Given the description of an element on the screen output the (x, y) to click on. 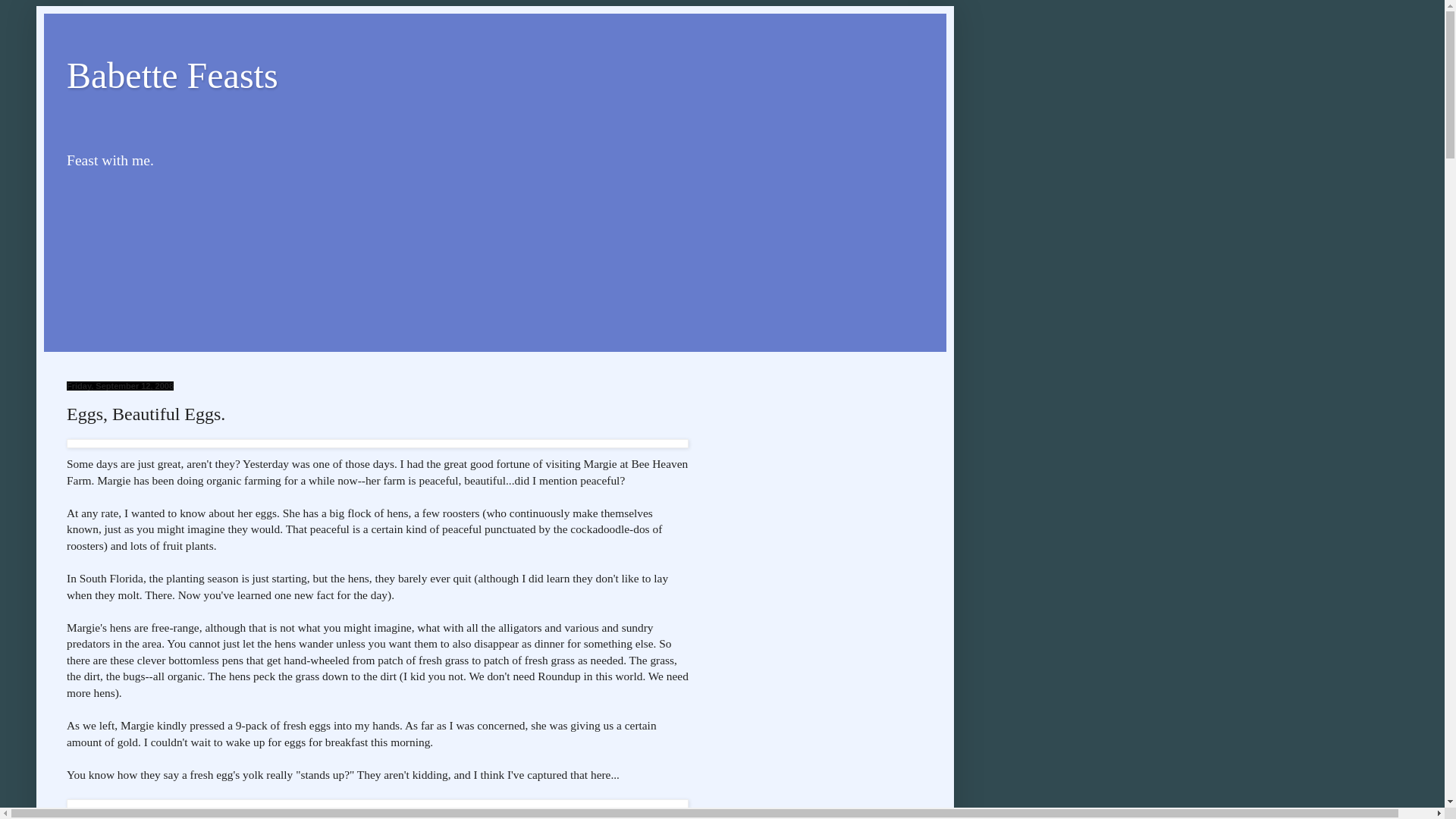
Babette Feasts (172, 75)
